Given the description of an element on the screen output the (x, y) to click on. 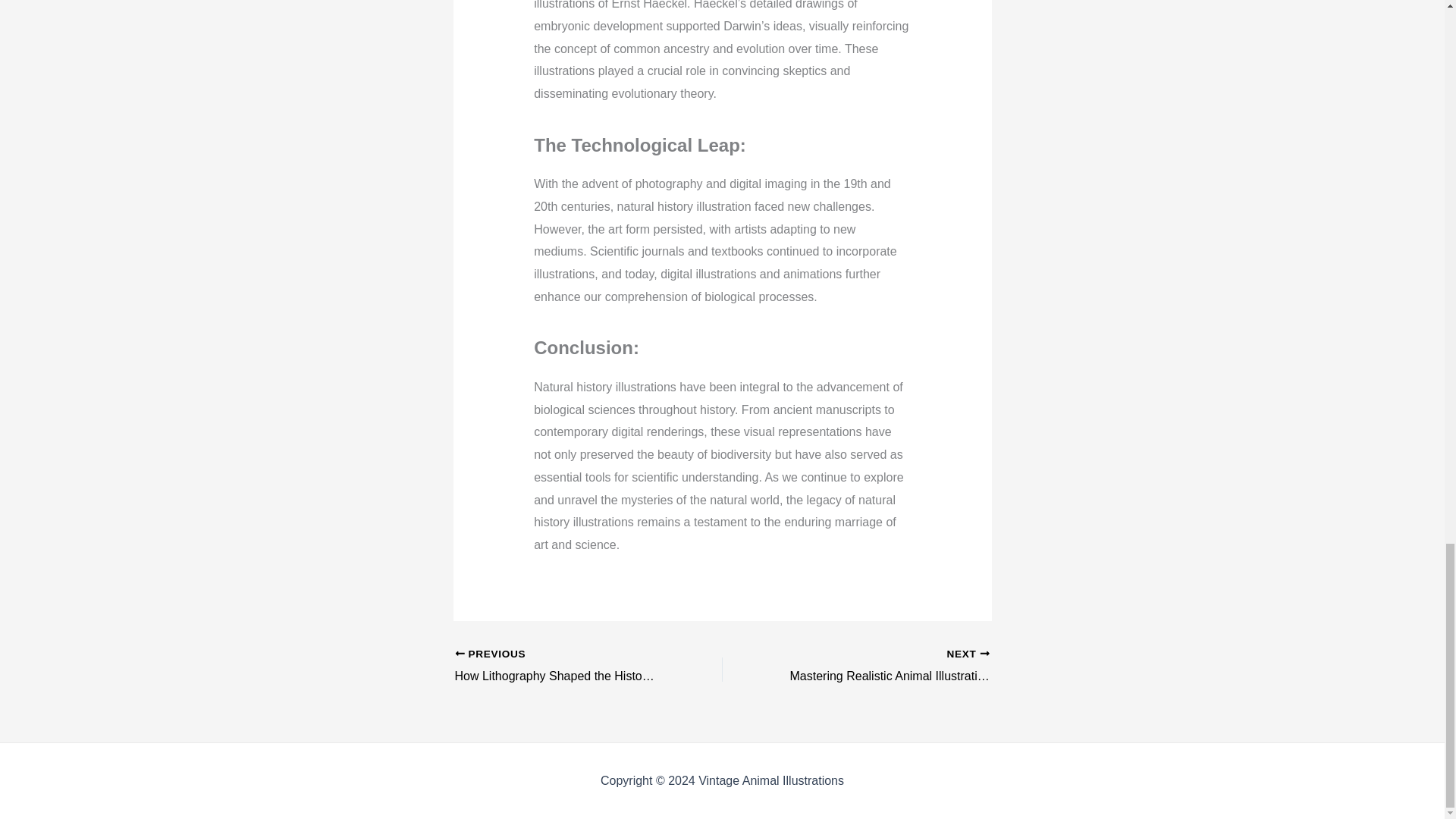
How Lithography Shaped the History of Biology Illustrations (561, 666)
